Given the description of an element on the screen output the (x, y) to click on. 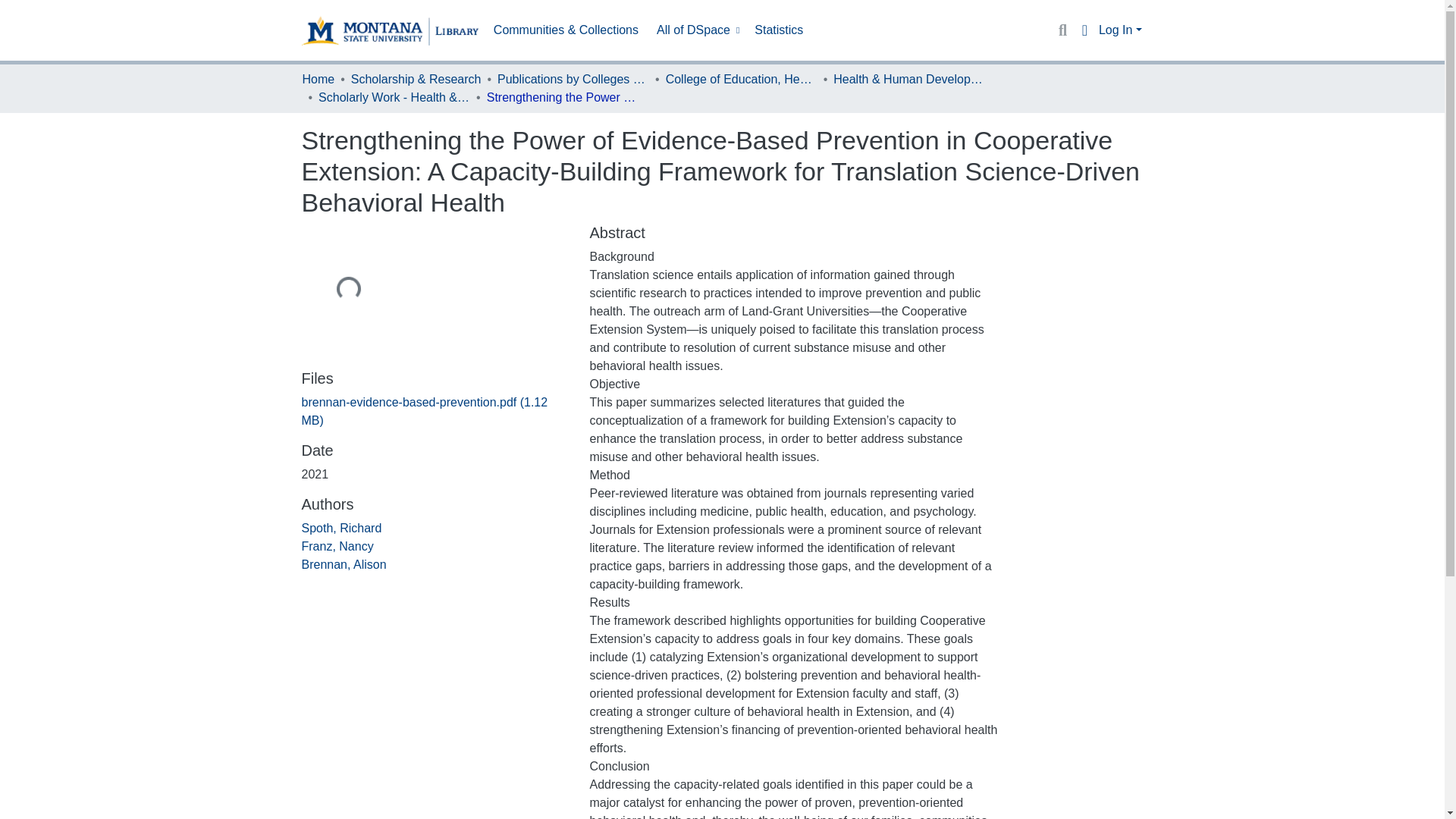
Search (1061, 30)
Language switch (1084, 30)
Brennan, Alison (344, 563)
Spoth, Richard (341, 527)
All of DSpace (696, 30)
Log In (1119, 29)
Statistics (778, 30)
Home (317, 79)
Franz, Nancy (337, 545)
